Given the description of an element on the screen output the (x, y) to click on. 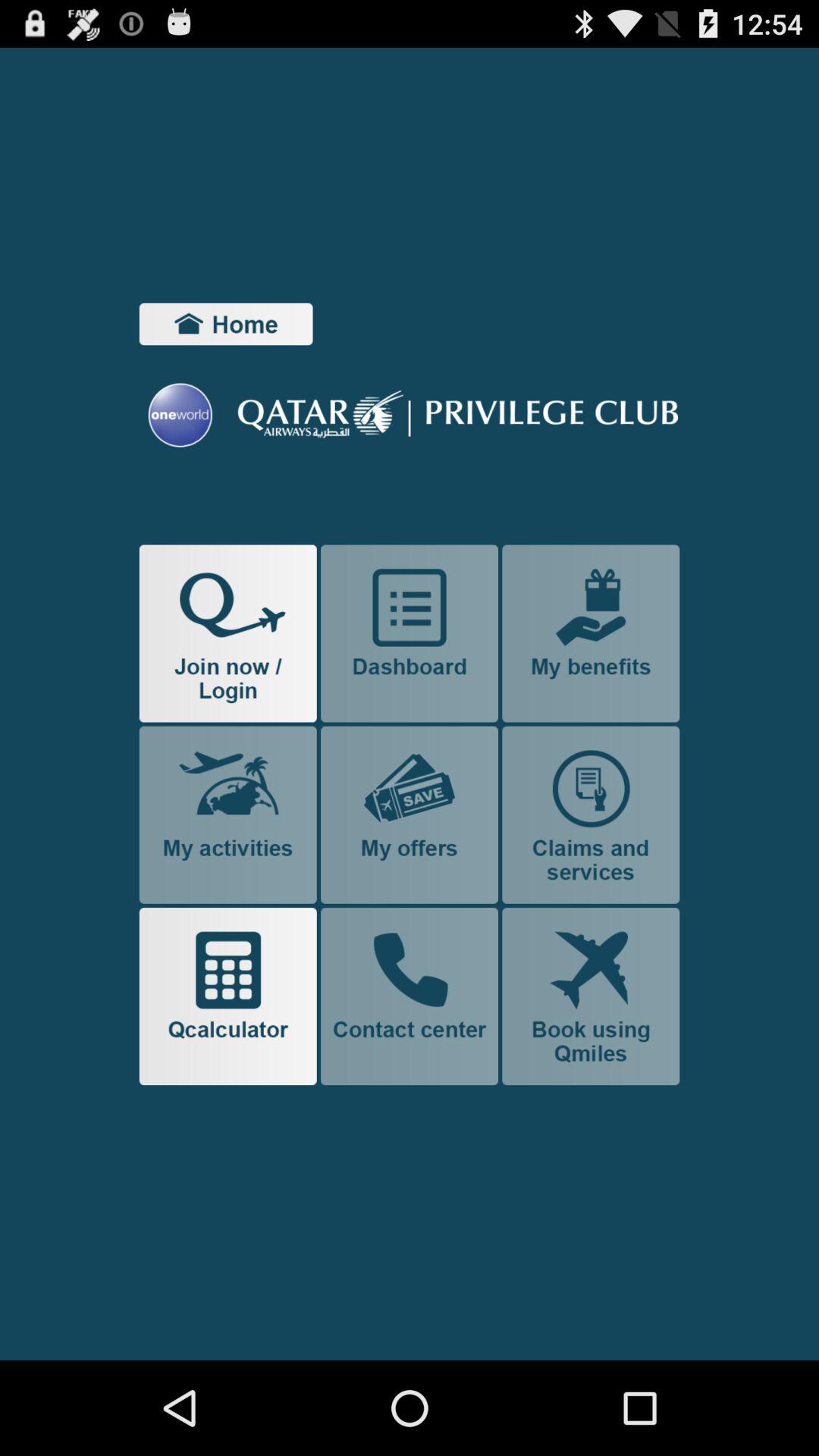
my benefits box (590, 633)
